Given the description of an element on the screen output the (x, y) to click on. 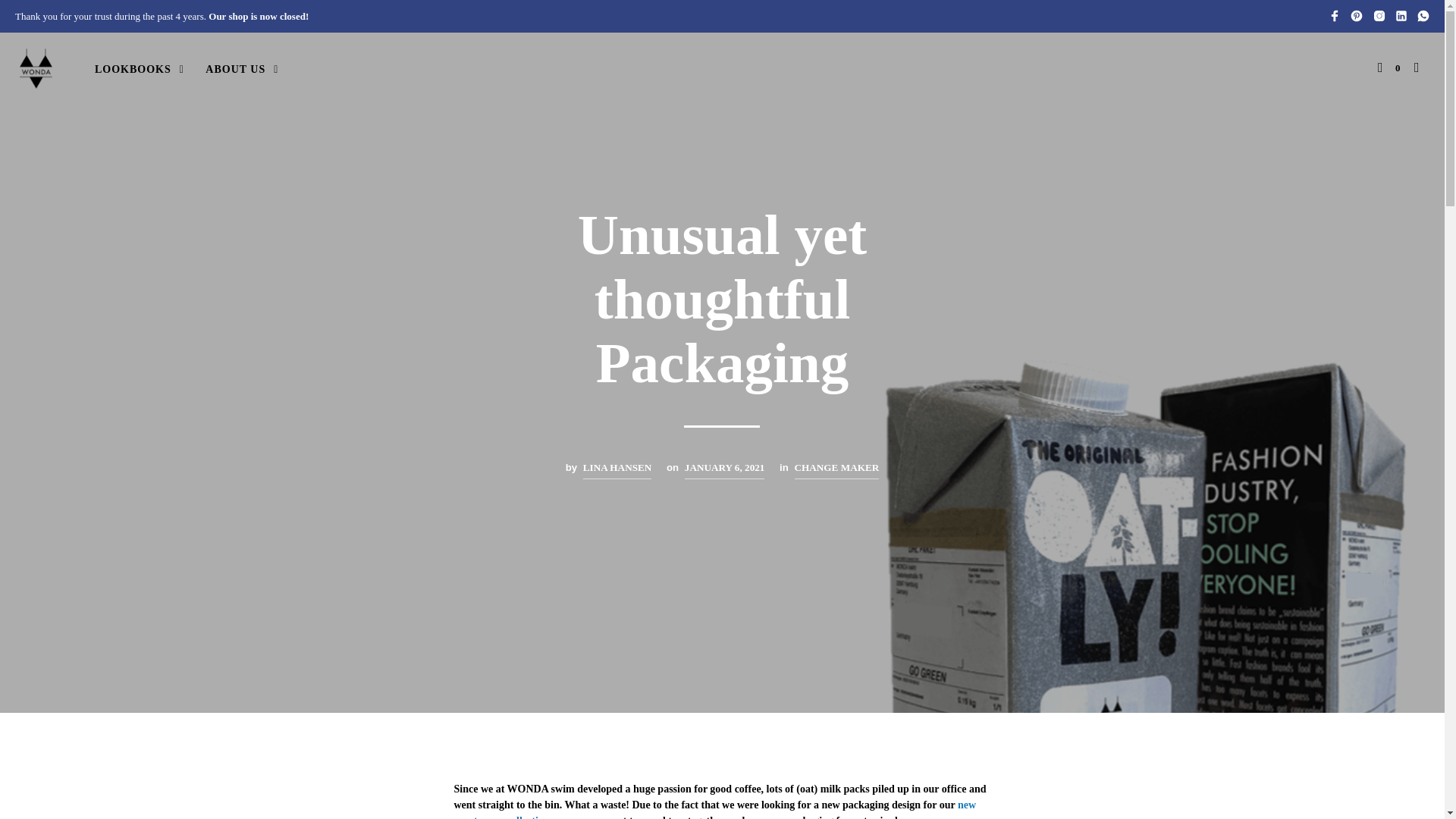
LINA HANSEN (617, 469)
CHANGE MAKER (836, 469)
new sportswear collection (713, 809)
View all posts by Lina Hansen (617, 469)
LOOKBOOKS (132, 68)
0 (1388, 68)
Permalink to Unusual yet thoughtful Packaging (724, 469)
JANUARY 6, 2021 (724, 469)
ABOUT US (234, 68)
